Given the description of an element on the screen output the (x, y) to click on. 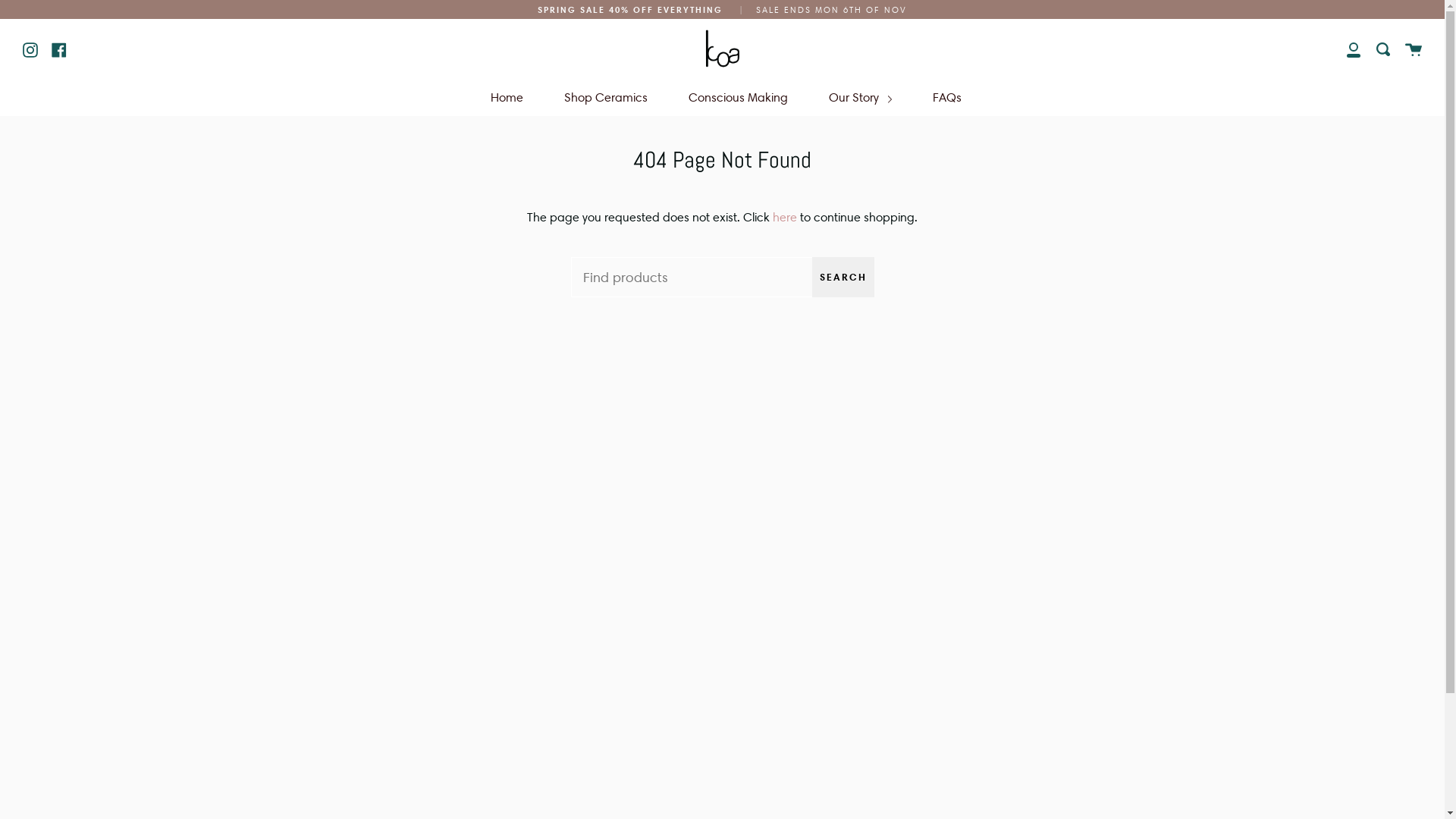
Home Element type: text (506, 97)
Cart Element type: text (1413, 48)
Instagram Element type: text (29, 48)
Conscious Making Element type: text (737, 97)
SEARCH Element type: text (842, 277)
Our Story Element type: text (860, 97)
My Account Element type: text (1353, 48)
FAQs Element type: text (946, 97)
Facebook Element type: text (58, 48)
Search Element type: text (1383, 48)
here Element type: text (784, 217)
Shop Ceramics Element type: text (605, 97)
